Given the description of an element on the screen output the (x, y) to click on. 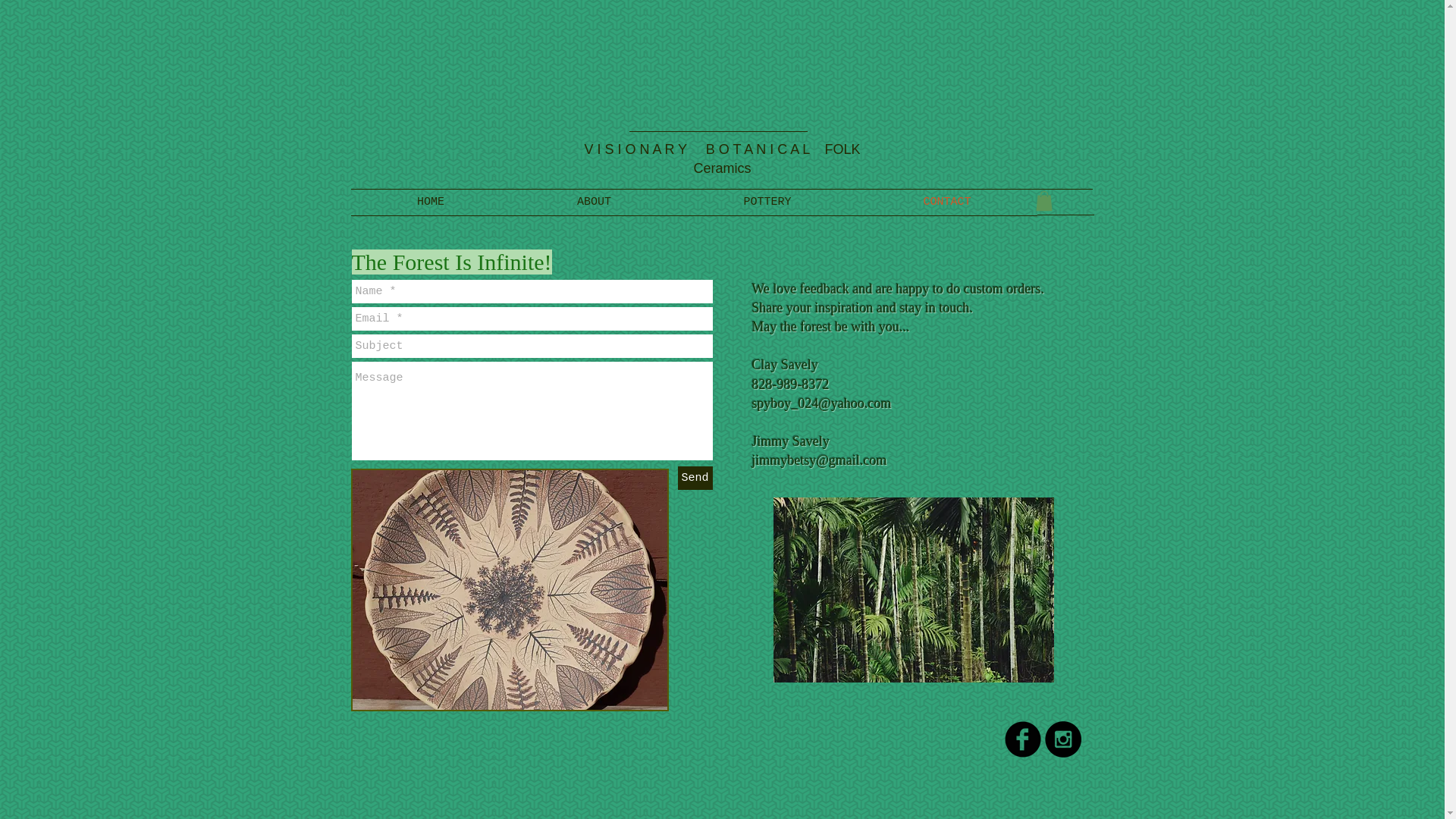
CONTACT (946, 202)
Send (695, 477)
ABOUT (594, 202)
V I S I O N A R Y     B O T A N I C A L    FOLK Ceramics (721, 158)
HOME (430, 202)
POTTERY (767, 202)
